Given the description of an element on the screen output the (x, y) to click on. 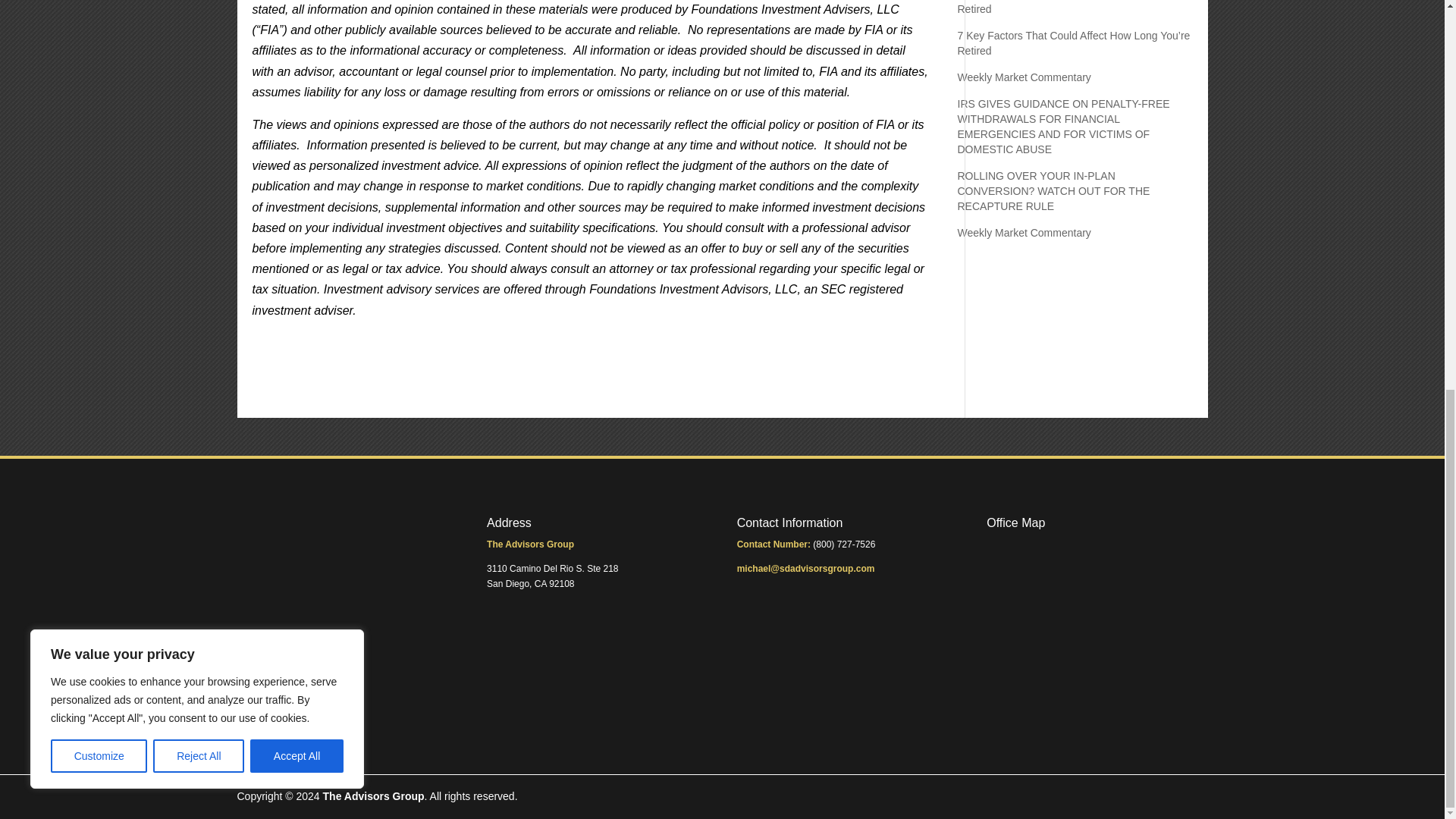
Accept All (296, 15)
Reject All (198, 15)
Customize (98, 15)
